Given the description of an element on the screen output the (x, y) to click on. 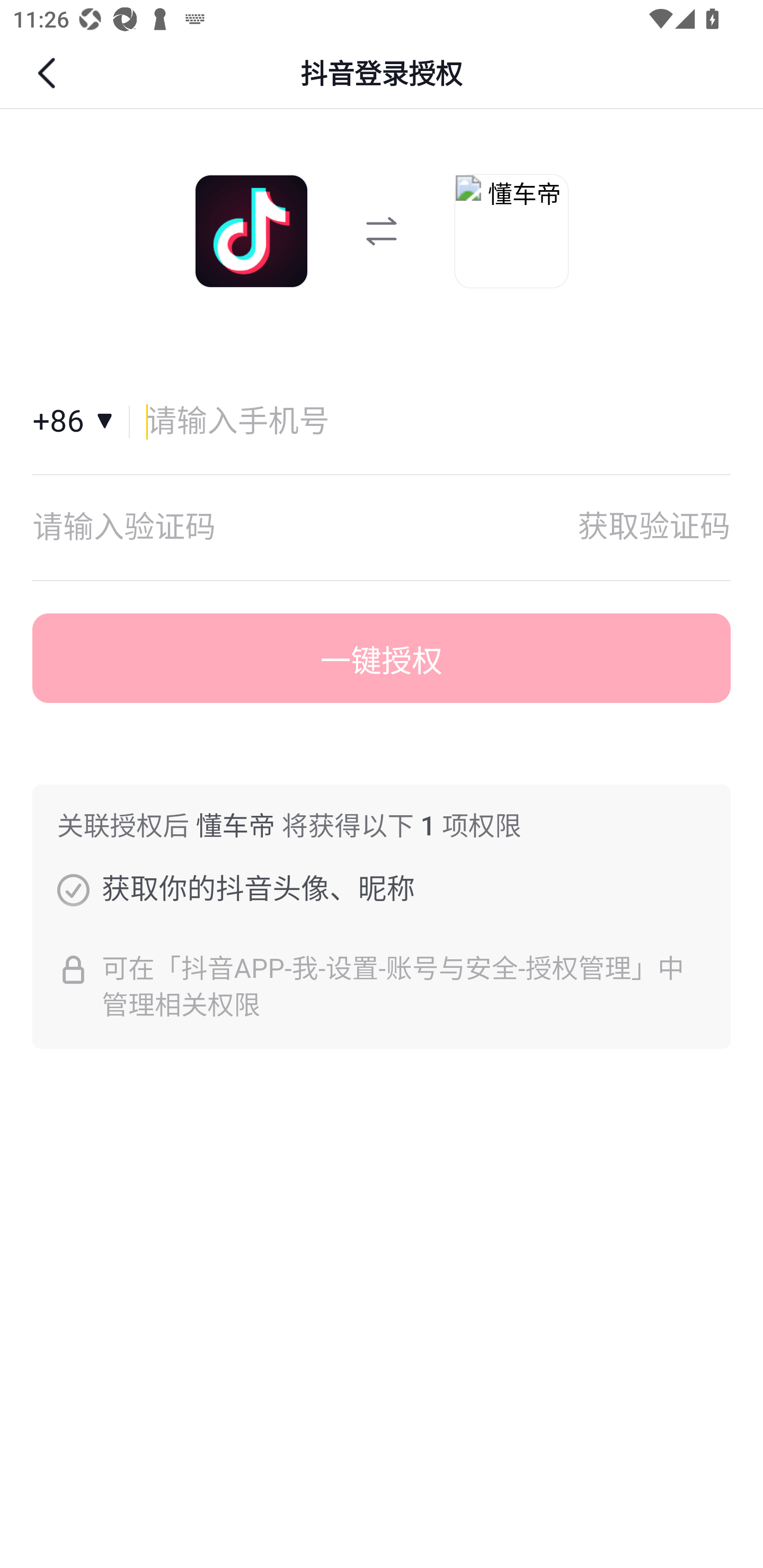
返回 (49, 72)
国家和地区+86 (81, 421)
获取验证码 (653, 526)
一键授权 (381, 658)
获取你的抖音头像、昵称 (72, 889)
